Given the description of an element on the screen output the (x, y) to click on. 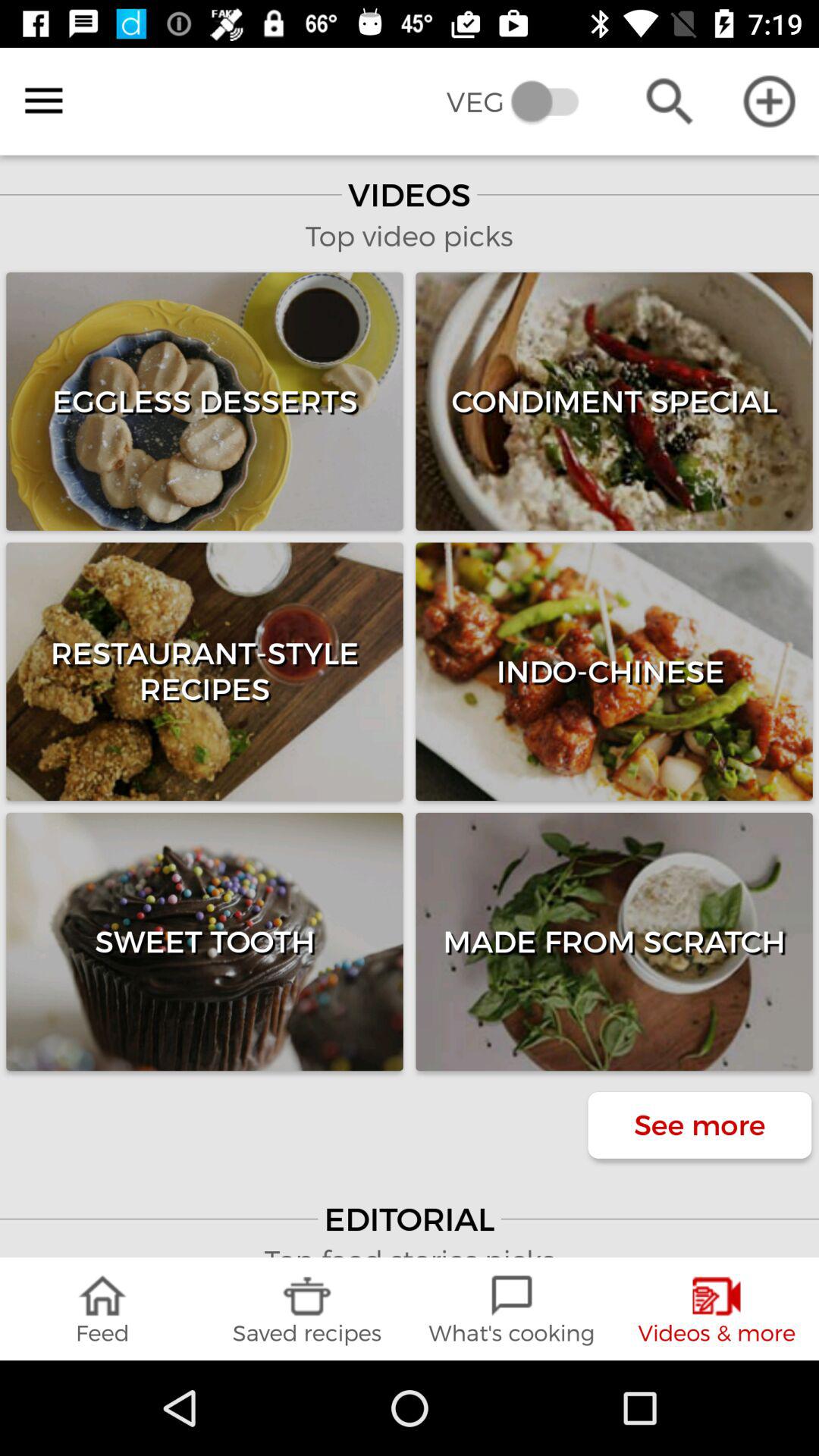
tap the icon next to veg icon (669, 101)
